Given the description of an element on the screen output the (x, y) to click on. 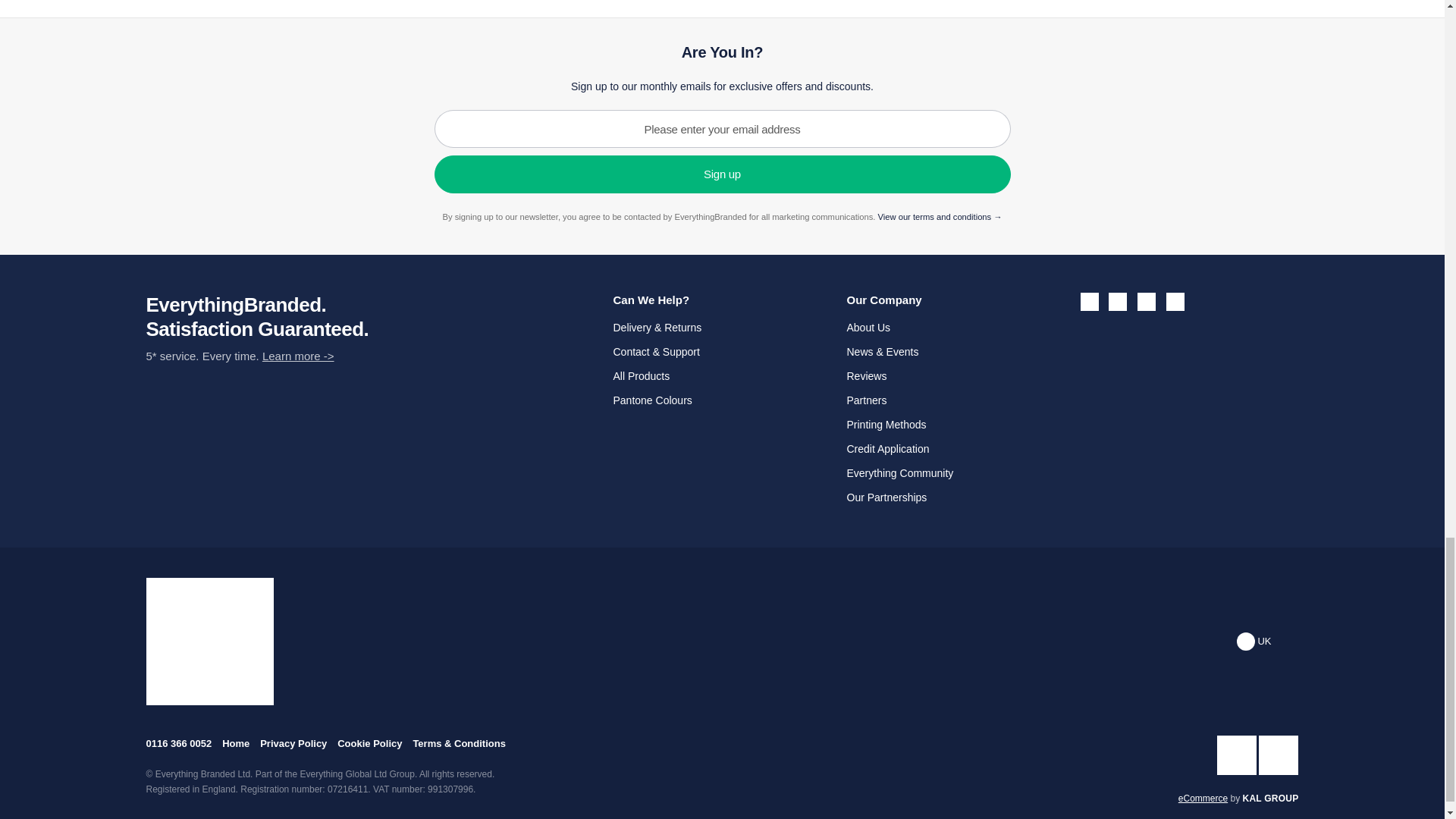
Sign up (721, 174)
